Given the description of an element on the screen output the (x, y) to click on. 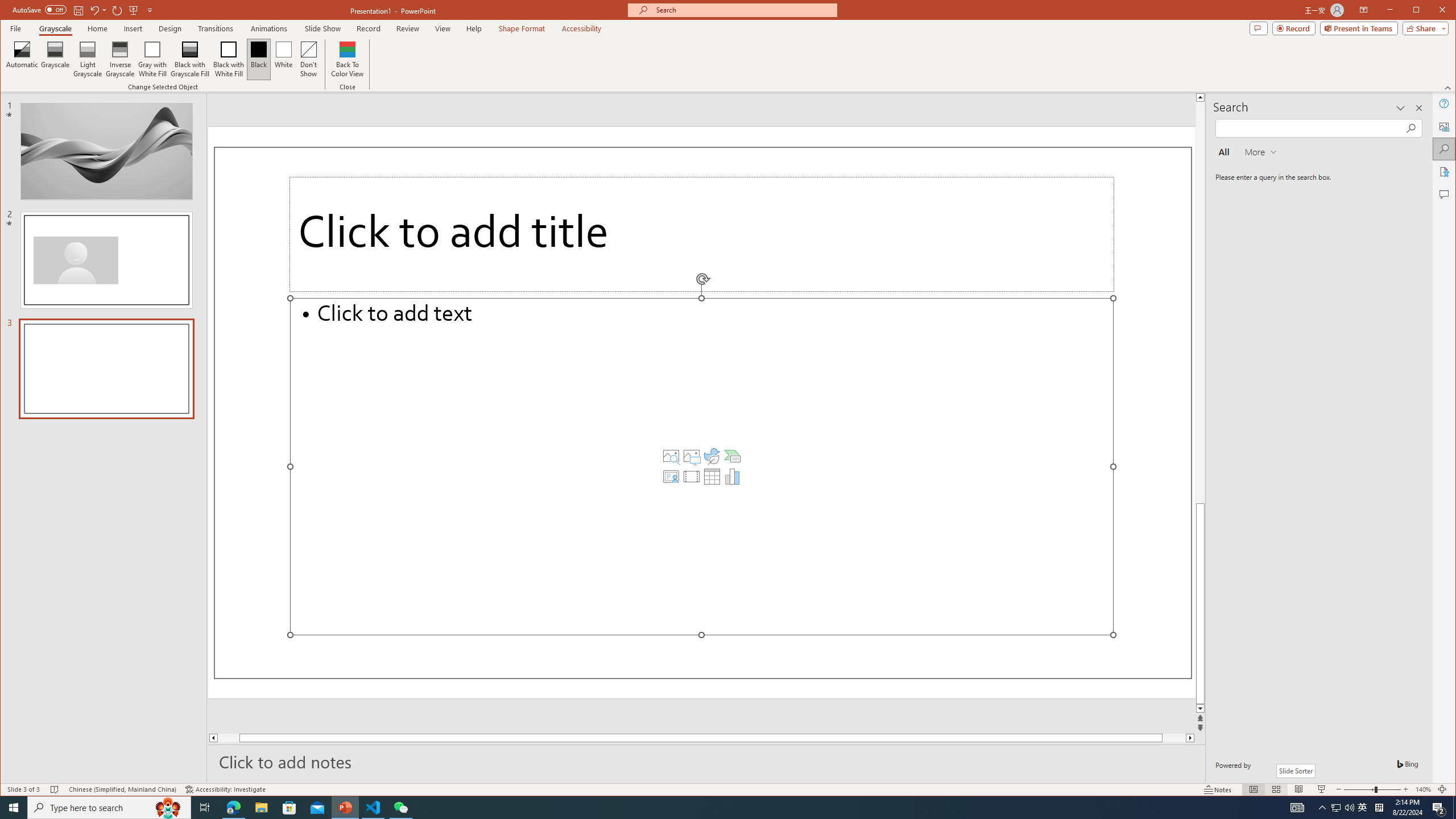
Inverse Grayscale (119, 59)
